Given the description of an element on the screen output the (x, y) to click on. 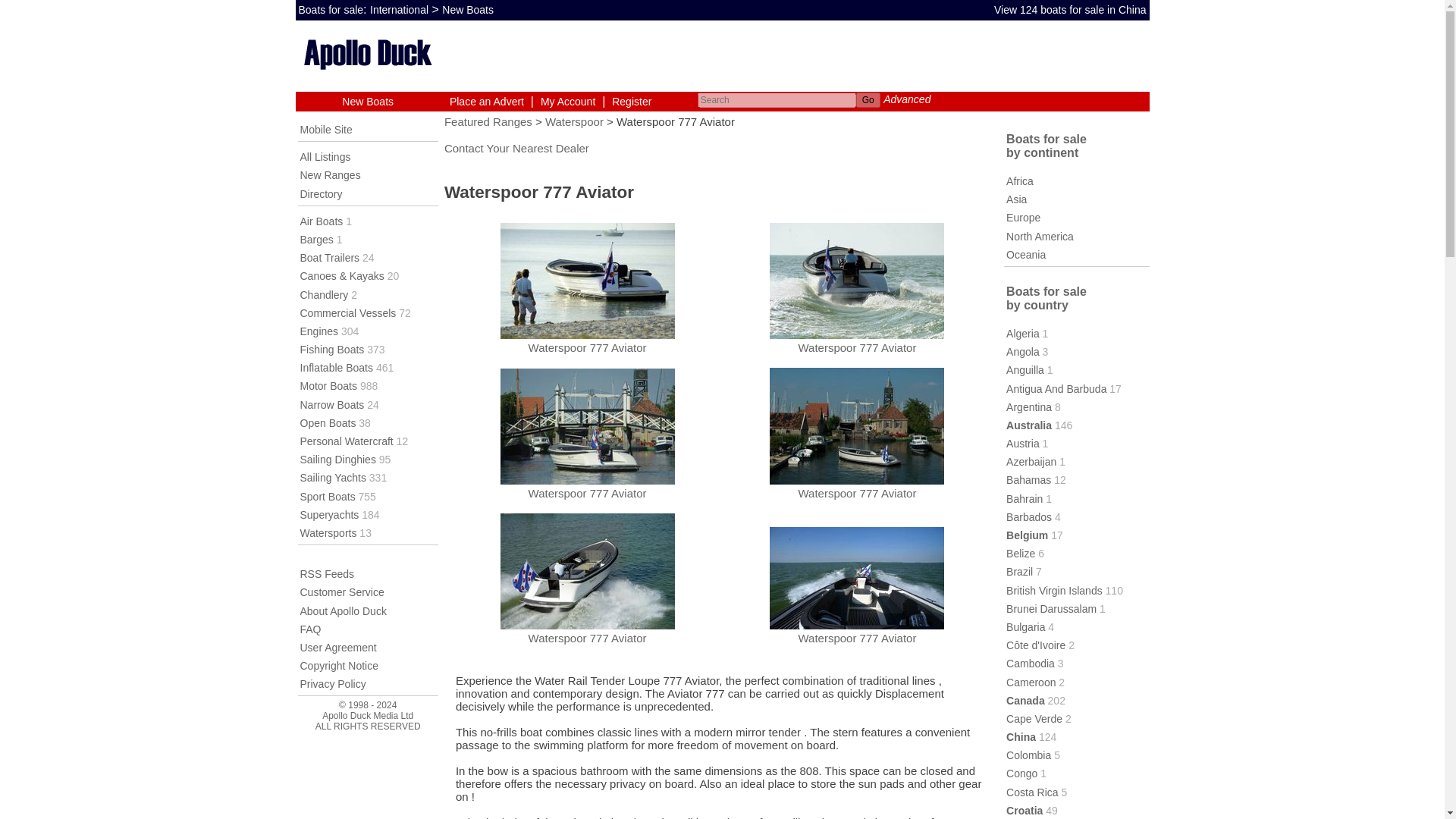
Sailing Dinghies (337, 459)
RSS Feeds (327, 573)
Watersports (327, 532)
Open Boats (327, 422)
New Boats (467, 9)
Engines (319, 331)
International (398, 9)
Fishing Boats (332, 349)
Boat Trailers (329, 257)
Customer Service (341, 592)
Air Boats (321, 221)
View 124 boats for sale in China (1070, 9)
Directory (320, 193)
Advanced (906, 99)
Chandlery (324, 294)
